Given the description of an element on the screen output the (x, y) to click on. 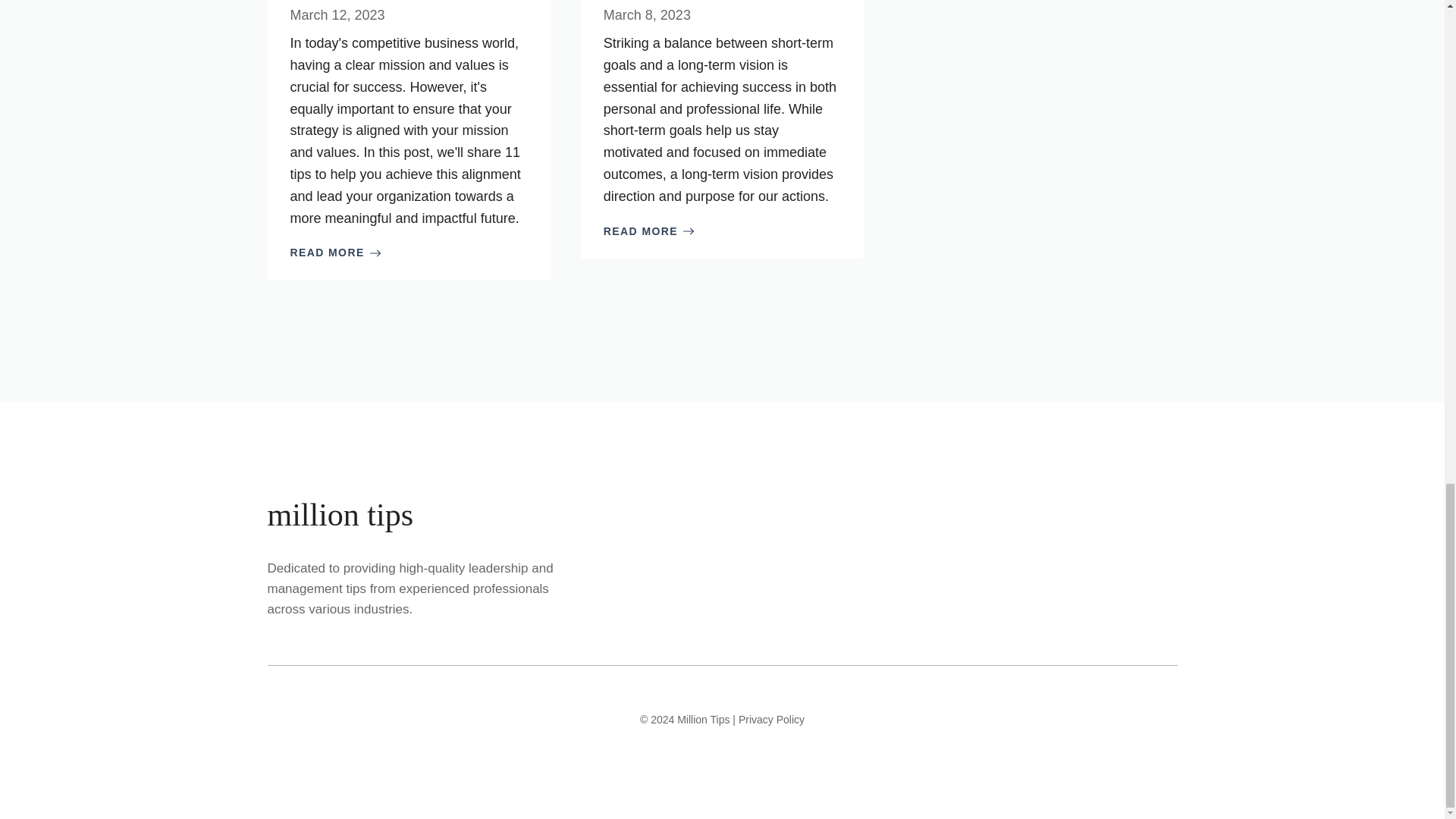
READ MORE (334, 252)
Privacy Policy (771, 719)
READ MORE (649, 230)
